Given the description of an element on the screen output the (x, y) to click on. 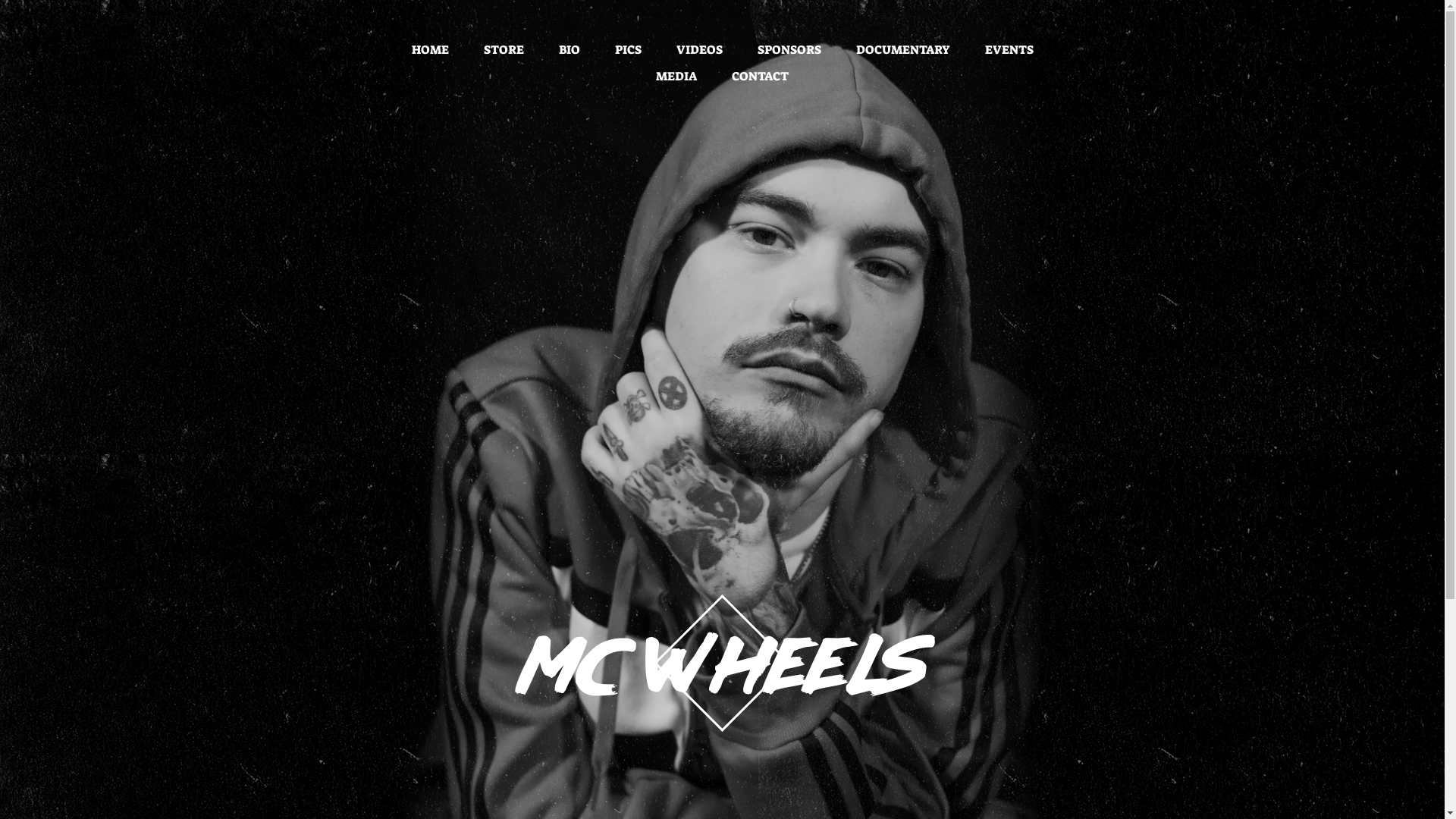
VIDEOS Element type: text (699, 49)
BIO Element type: text (568, 49)
MC Wheels Element type: text (722, 681)
STORE Element type: text (503, 49)
PICS Element type: text (627, 49)
CONTACT Element type: text (760, 75)
SPONSORS Element type: text (788, 49)
DOCUMENTARY Element type: text (901, 49)
EVENTS Element type: text (1008, 49)
MEDIA Element type: text (676, 75)
HOME Element type: text (429, 49)
